Given the description of an element on the screen output the (x, y) to click on. 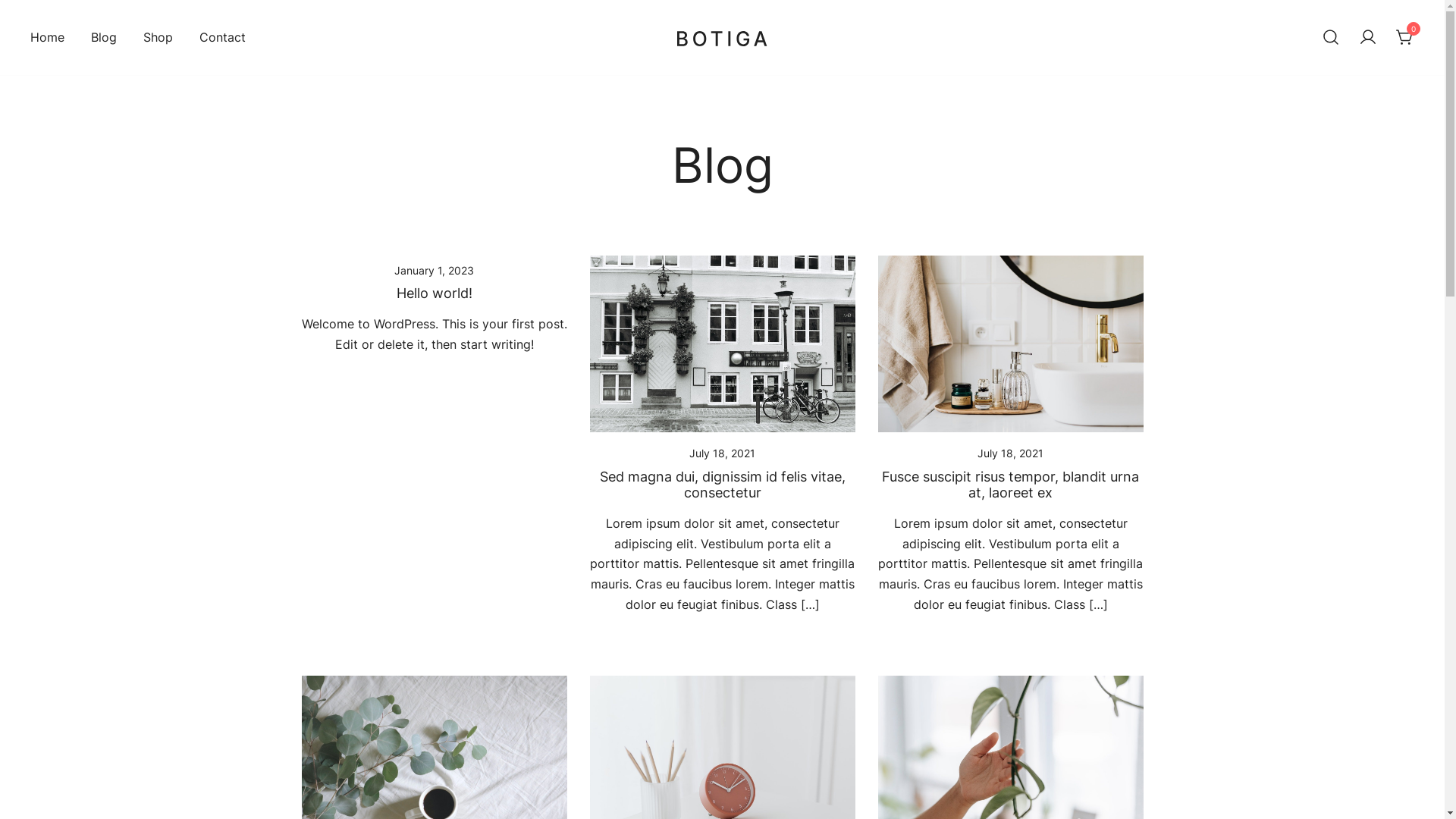
Christian Gifting | Inspired by the Psalms Element type: text (822, 64)
Contact Element type: text (222, 37)
Sed magna dui, dignissim id felis vitae, consectetur Element type: text (721, 484)
July 18, 2021 Element type: text (1010, 452)
Search for a product Element type: hover (1330, 37)
0 Element type: text (1405, 35)
Fusce suscipit risus tempor, blandit urna at, laoreet ex Element type: text (1010, 484)
Hello world! Element type: text (433, 293)
Shop Element type: text (157, 37)
Your account Element type: hover (1367, 37)
January 1, 2023 Element type: text (433, 269)
Blog Element type: text (103, 37)
July 18, 2021 Element type: text (722, 452)
Home Element type: text (47, 37)
